Given the description of an element on the screen output the (x, y) to click on. 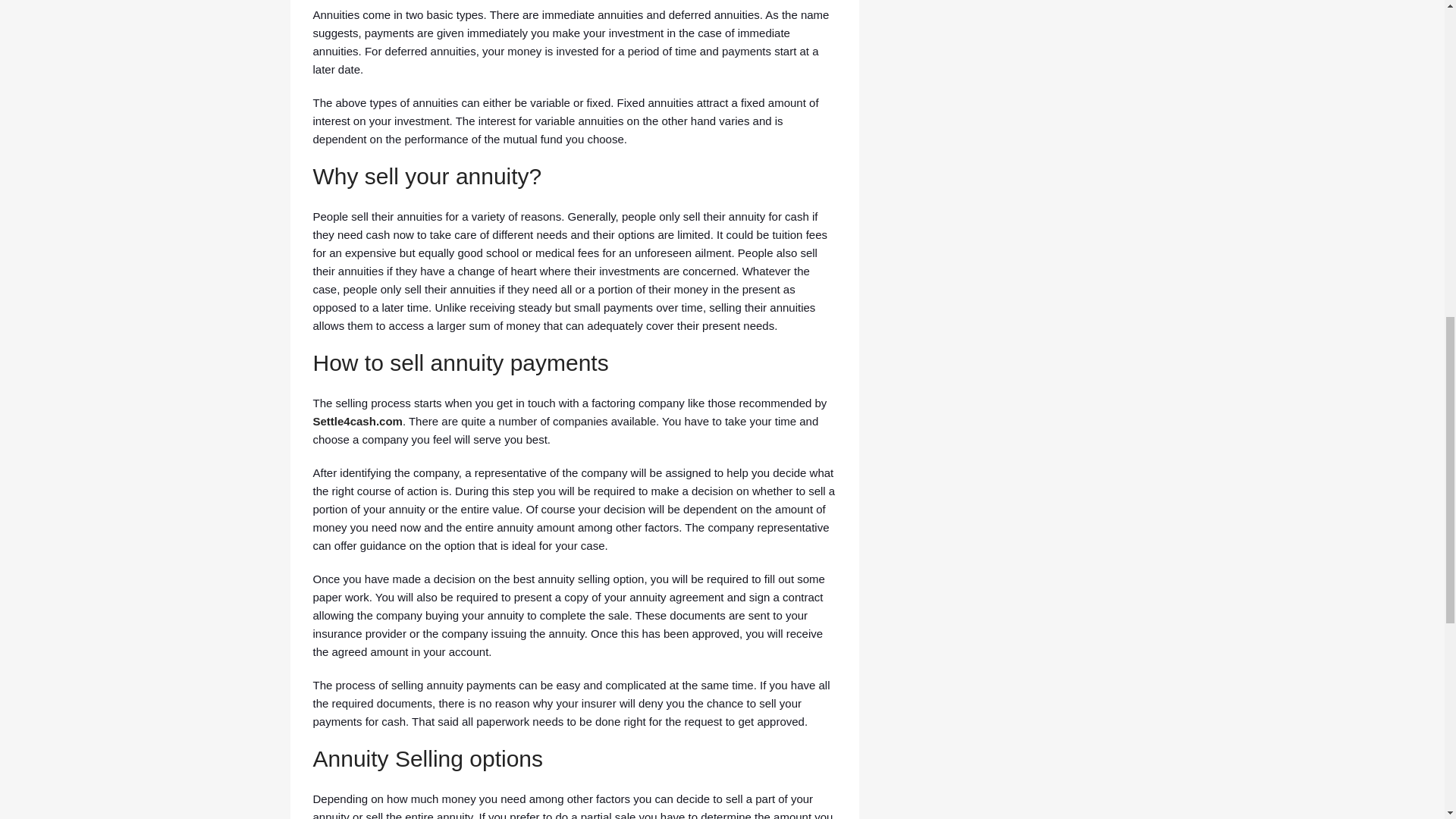
Settle4cash.com (357, 420)
